Given the description of an element on the screen output the (x, y) to click on. 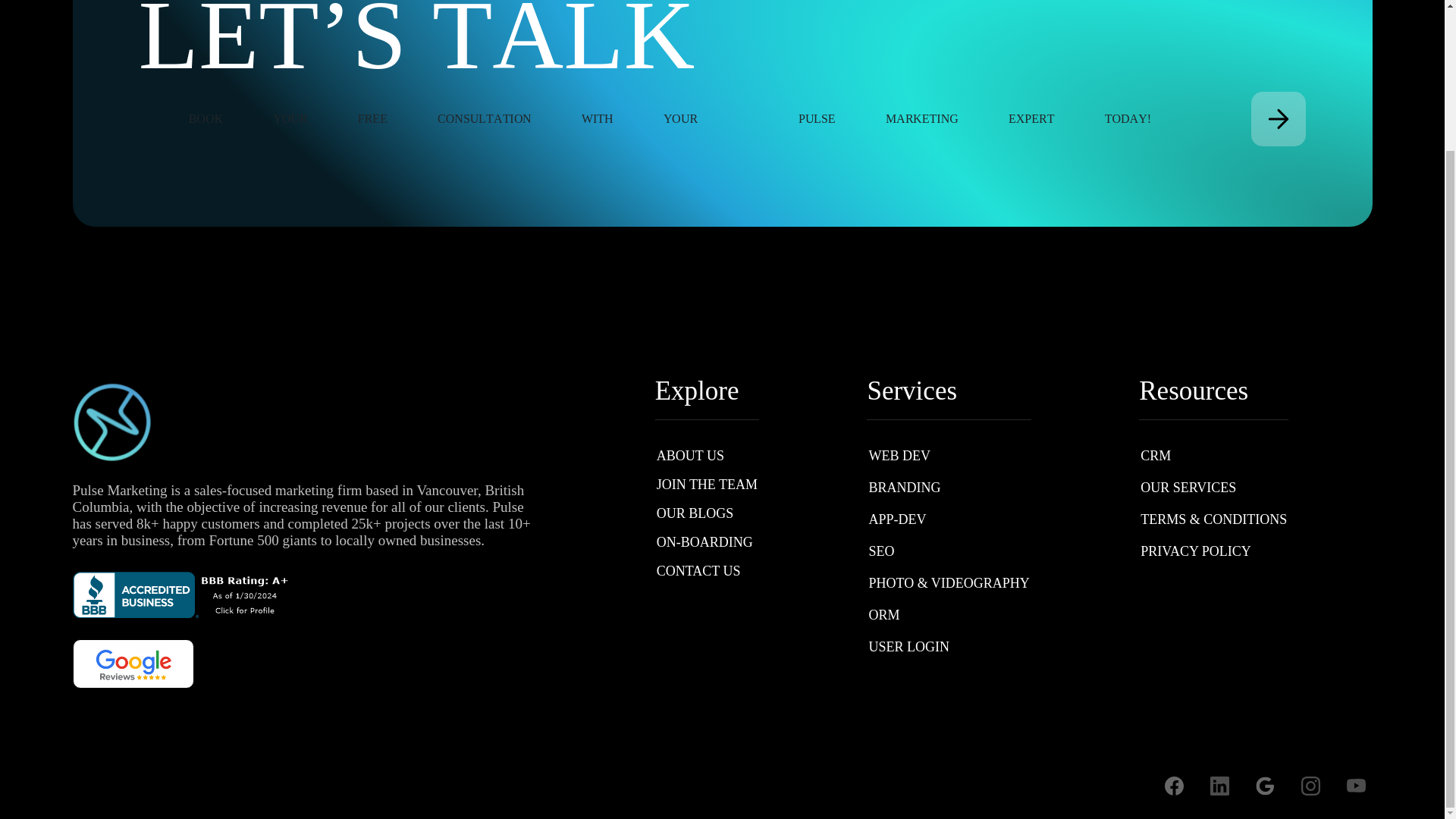
Explore (706, 391)
